Given the description of an element on the screen output the (x, y) to click on. 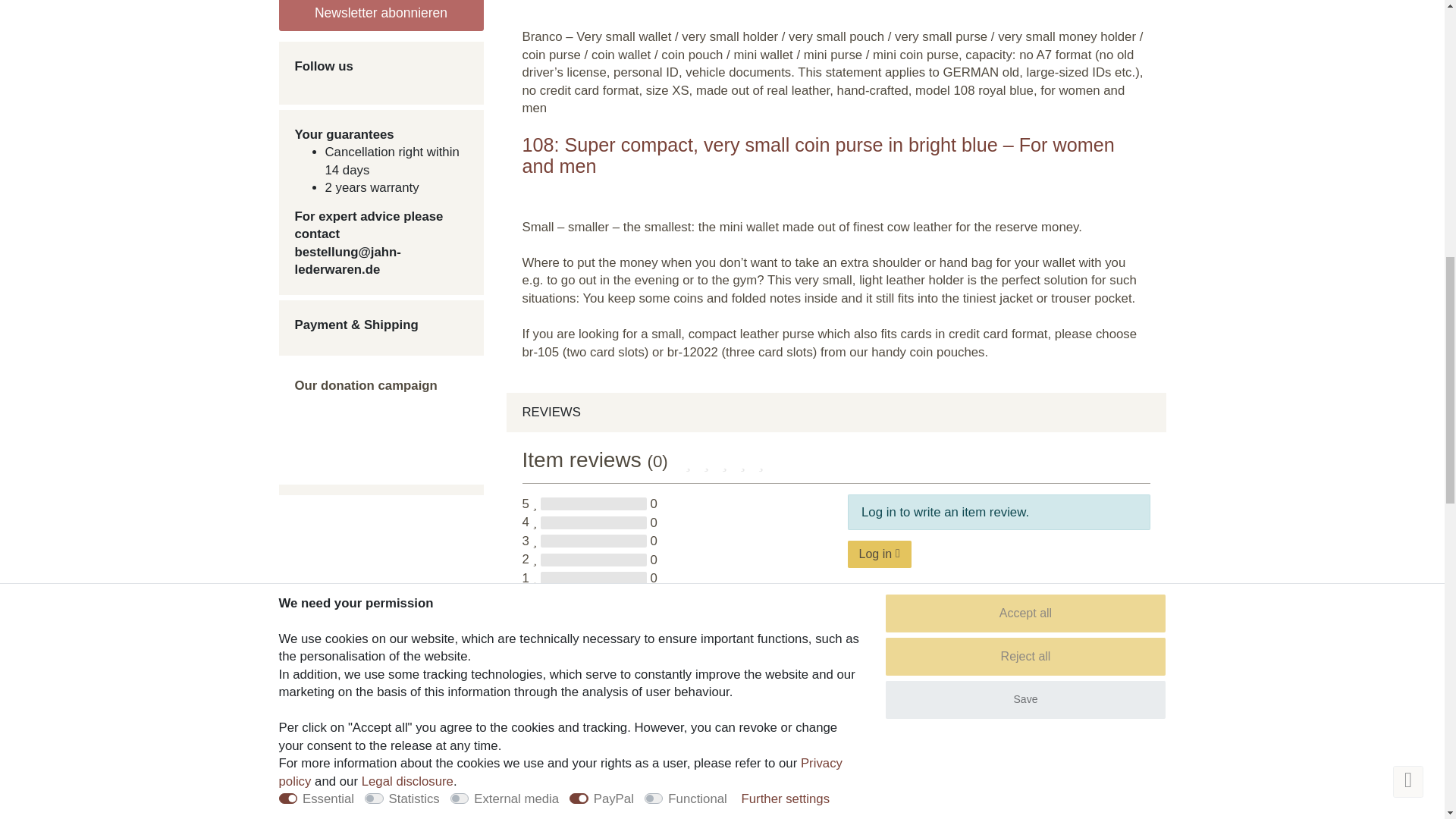
Newsletter abonnieren (381, 15)
